Given the description of an element on the screen output the (x, y) to click on. 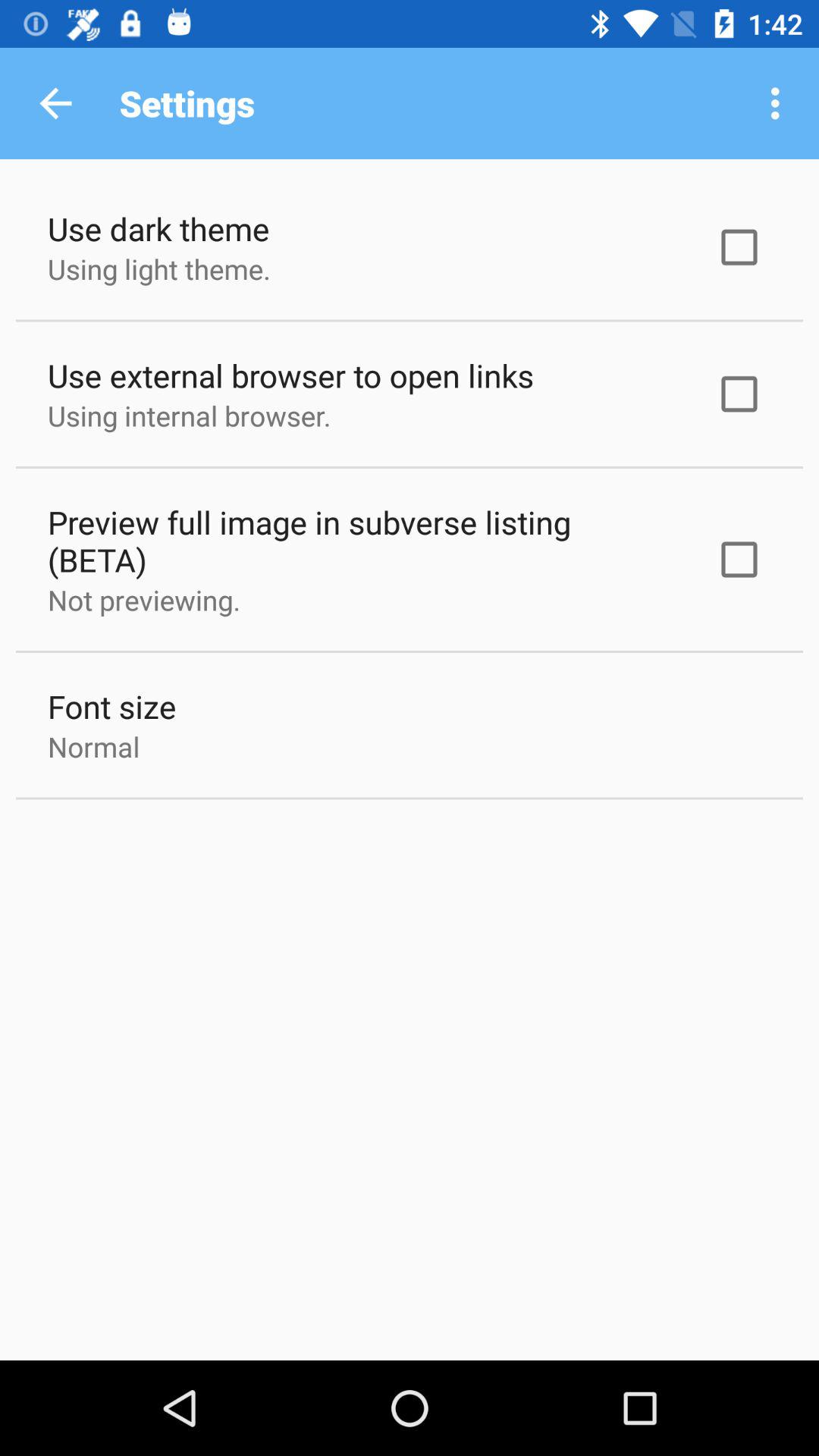
launch the icon next to the settings icon (55, 103)
